Given the description of an element on the screen output the (x, y) to click on. 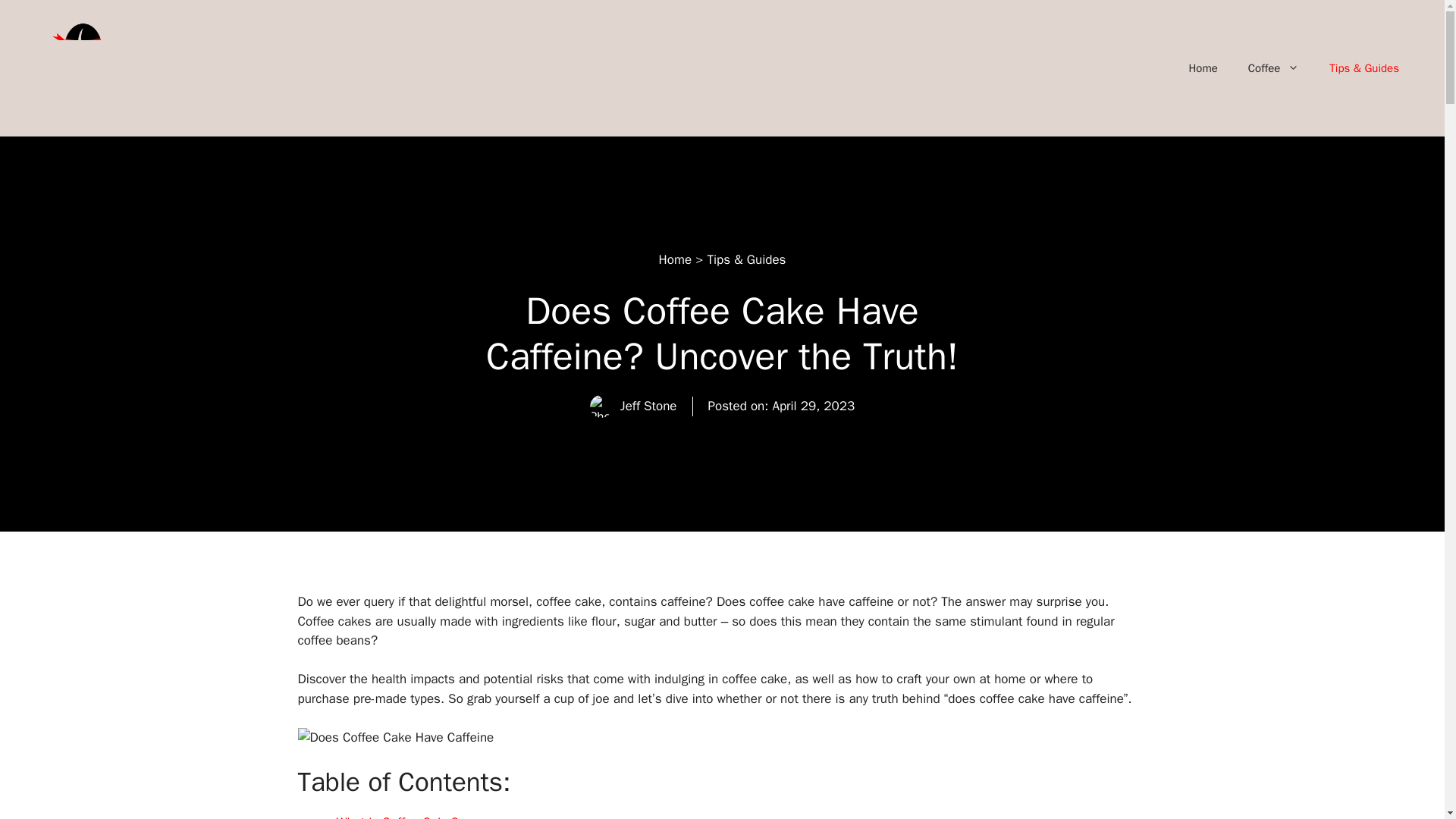
What is Coffee Cake? (397, 816)
Home (675, 259)
Home (1202, 67)
Coffee (1273, 67)
